Given the description of an element on the screen output the (x, y) to click on. 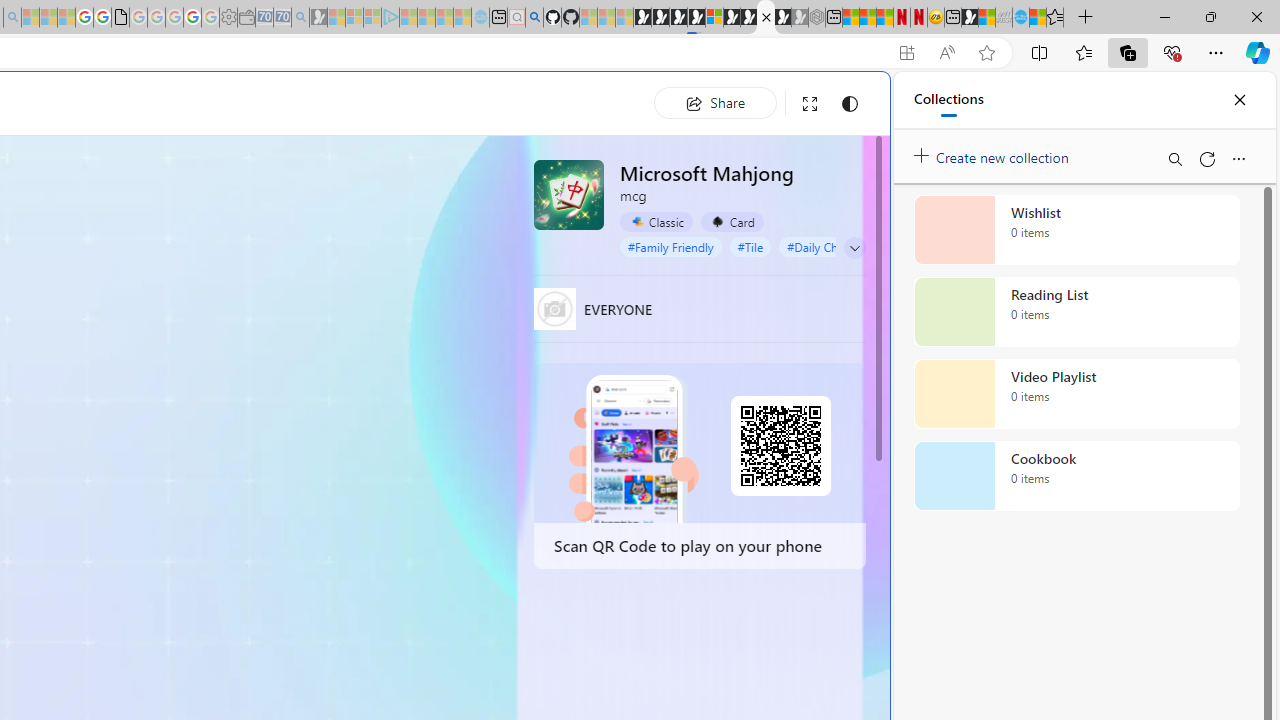
Class: expand-arrow neutral (854, 247)
